Given the description of an element on the screen output the (x, y) to click on. 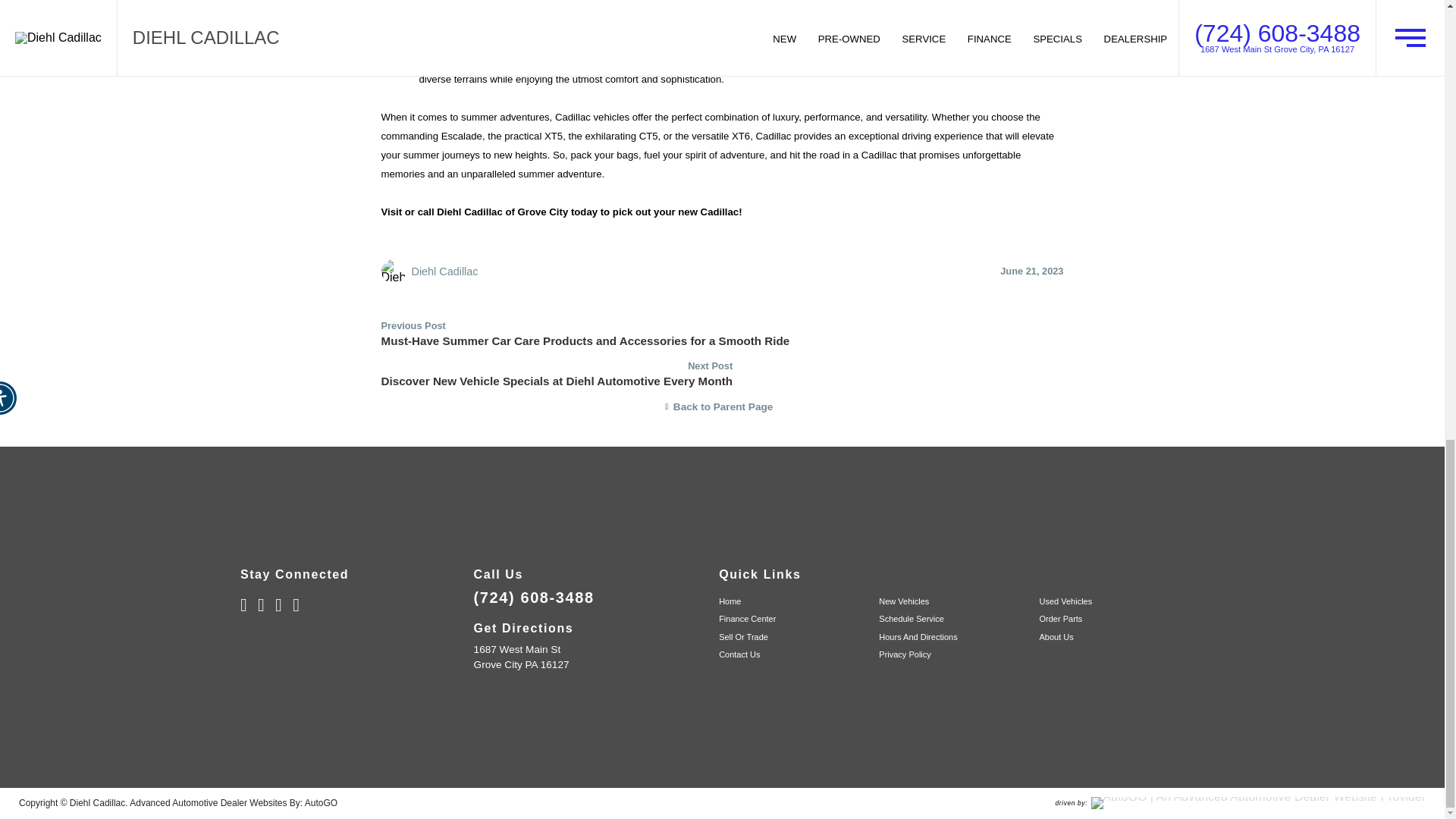
Posted by Diehl Cadillac (443, 271)
